Given the description of an element on the screen output the (x, y) to click on. 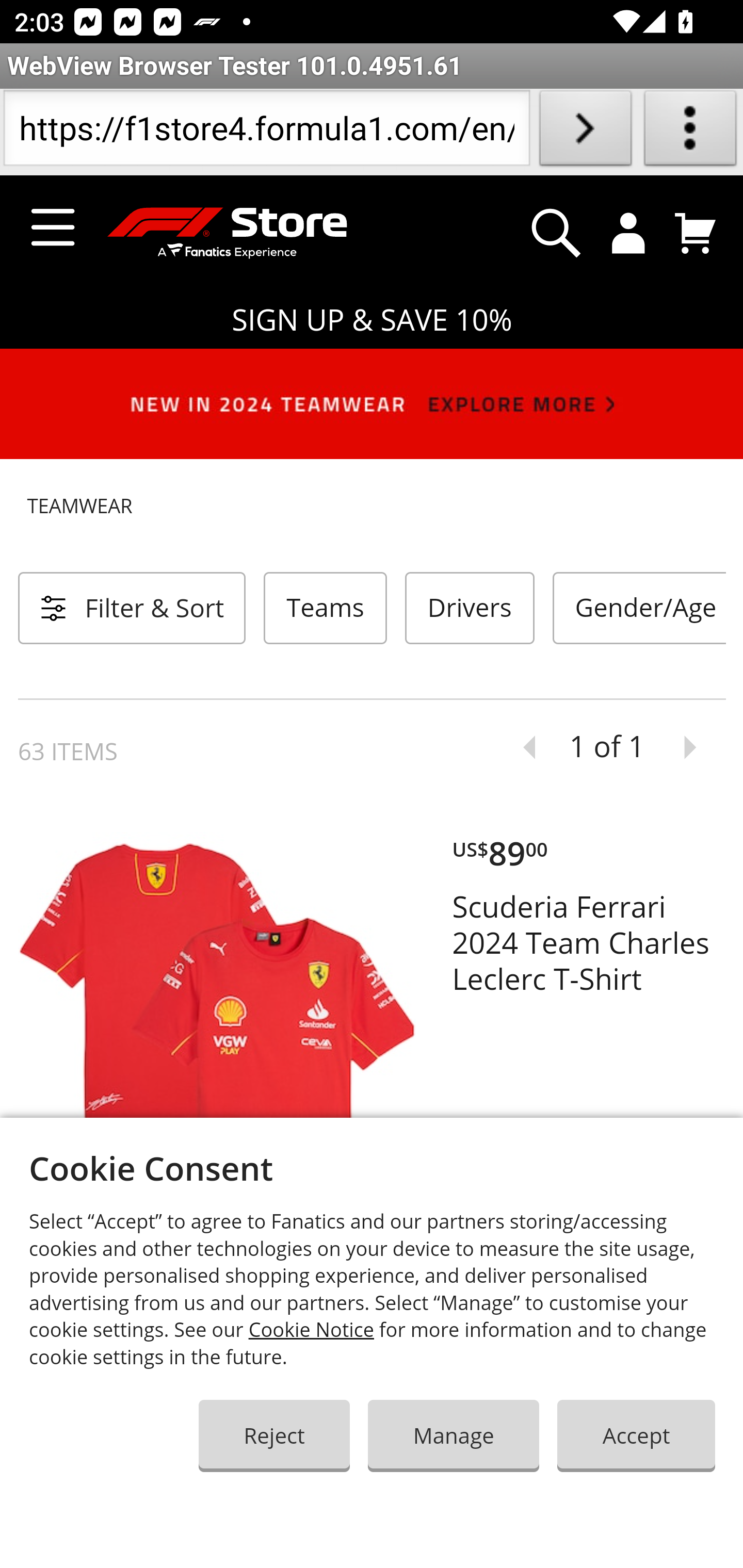
Load URL (585, 132)
About WebView (690, 132)
F1 Store (217, 234)
 (555, 233)
 (628, 233)
You have 0 items in cart. The total is US$0.00  (695, 232)
SIGN UP & SAVE 10% (371, 320)
NEW IN 2024 TEAMWEAR - SHOP NOW (371, 411)
TEAMWEAR (371, 506)
Product Filters (132, 607)
Teams (325, 607)
Drivers (469, 607)
Gender/Age (638, 607)
previous page  (522, 747)
next page  (697, 747)
Scuderia Ferrari 2024 Team Charles Leclerc T-Shirt (589, 942)
